Given the description of an element on the screen output the (x, y) to click on. 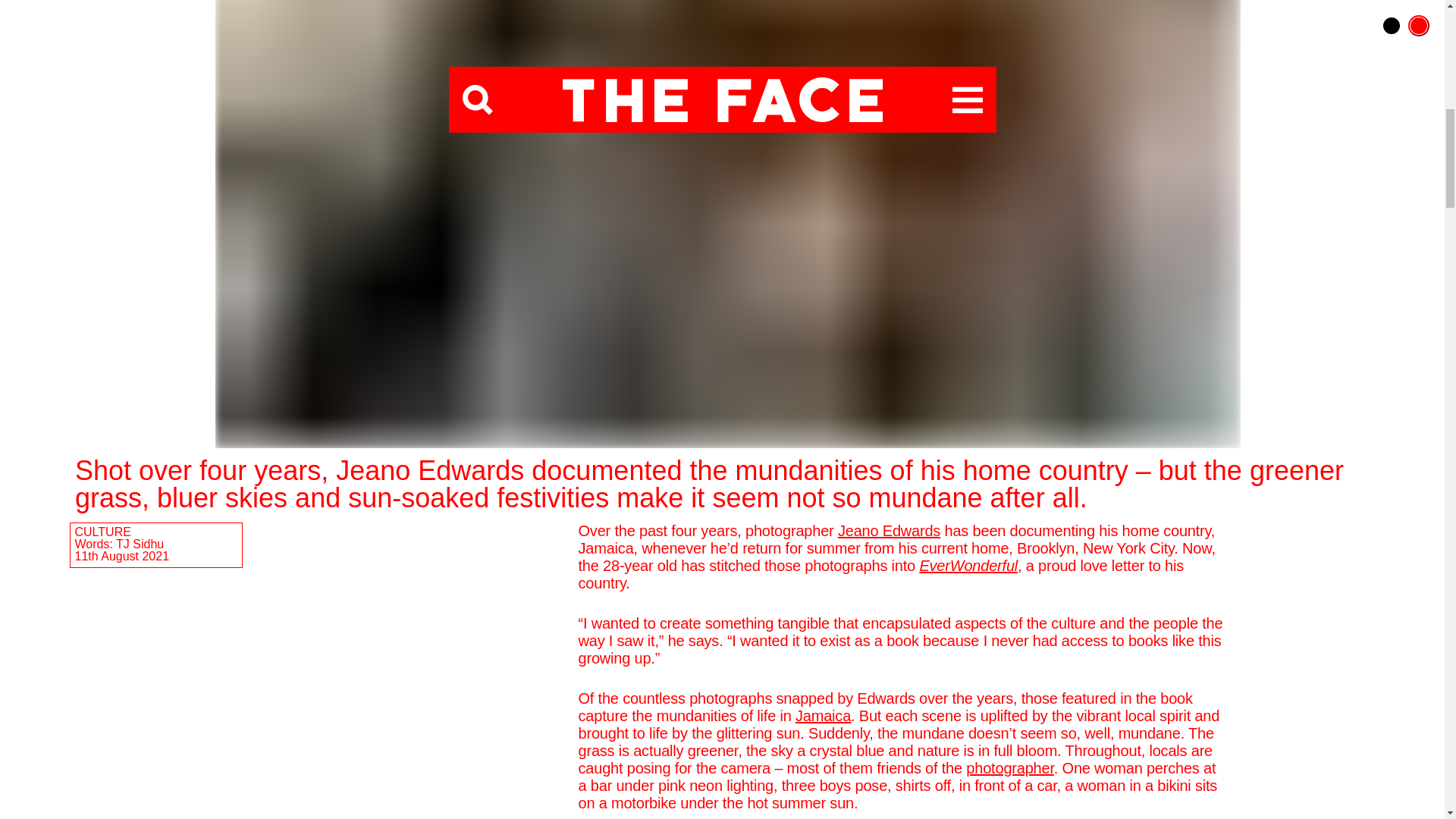
CULTURE (102, 531)
EverWonderful (967, 565)
TJ Sidhu (139, 543)
Jamaica (822, 715)
photographer (1009, 768)
Jeano Edwards (889, 530)
